Given the description of an element on the screen output the (x, y) to click on. 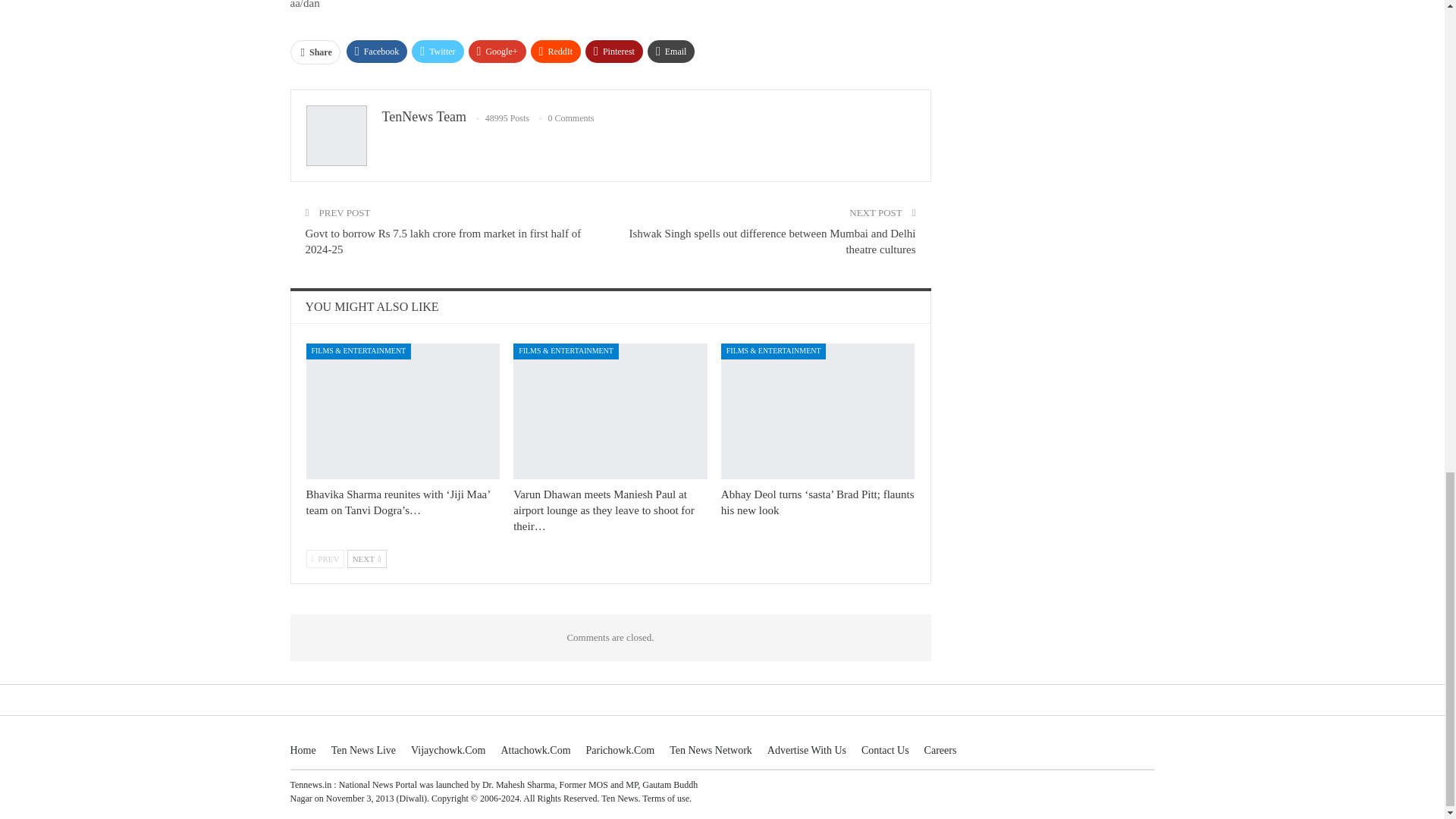
Previous (325, 558)
Next (367, 558)
Twitter (437, 51)
ReddIt (555, 51)
Facebook (376, 51)
